Given the description of an element on the screen output the (x, y) to click on. 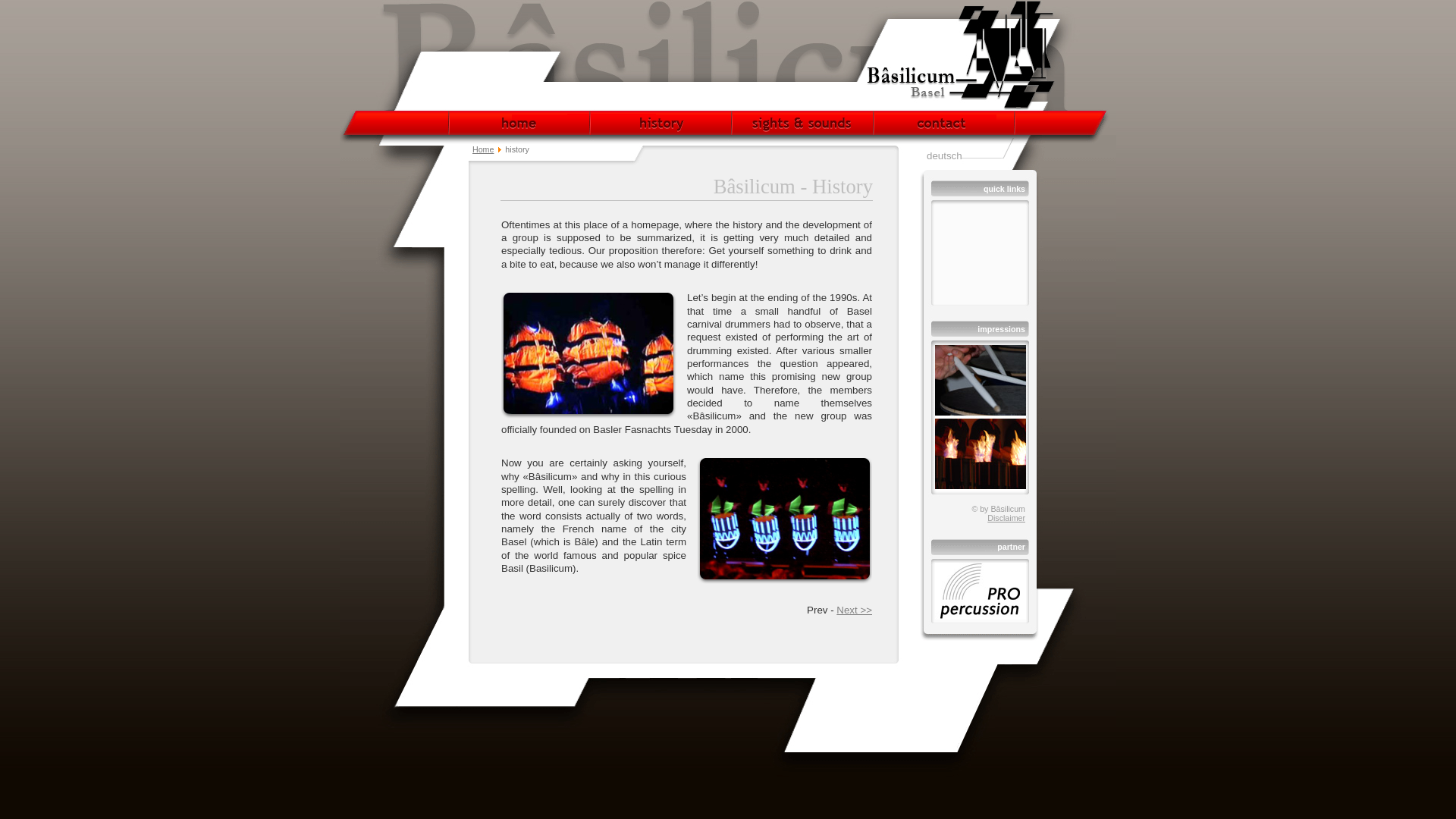
deutsch Element type: text (944, 155)
Next >> Element type: text (854, 609)
Disclaimer Element type: text (1006, 517)
Home Element type: text (482, 148)
